Given the description of an element on the screen output the (x, y) to click on. 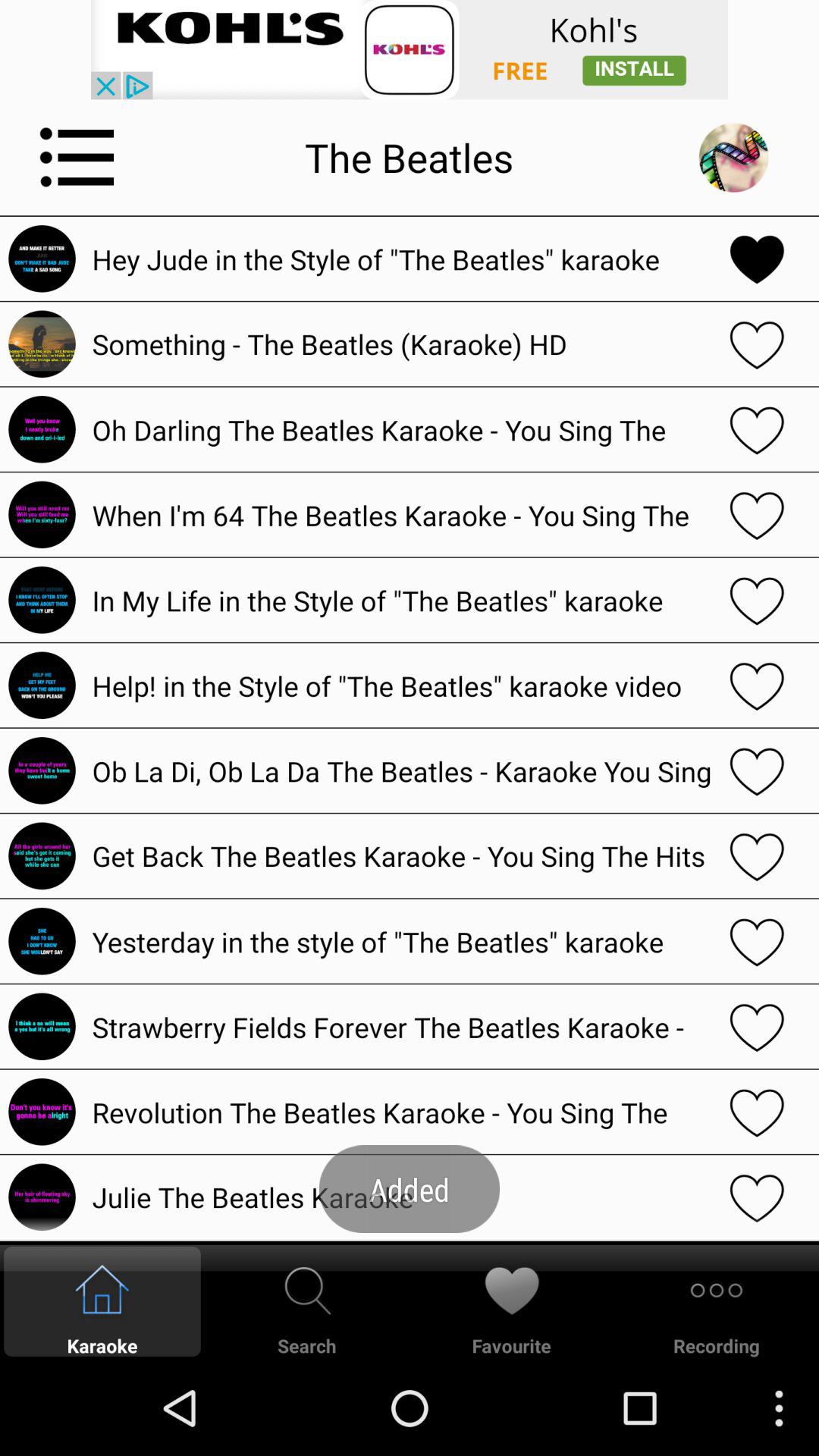
view menu (77, 157)
